Given the description of an element on the screen output the (x, y) to click on. 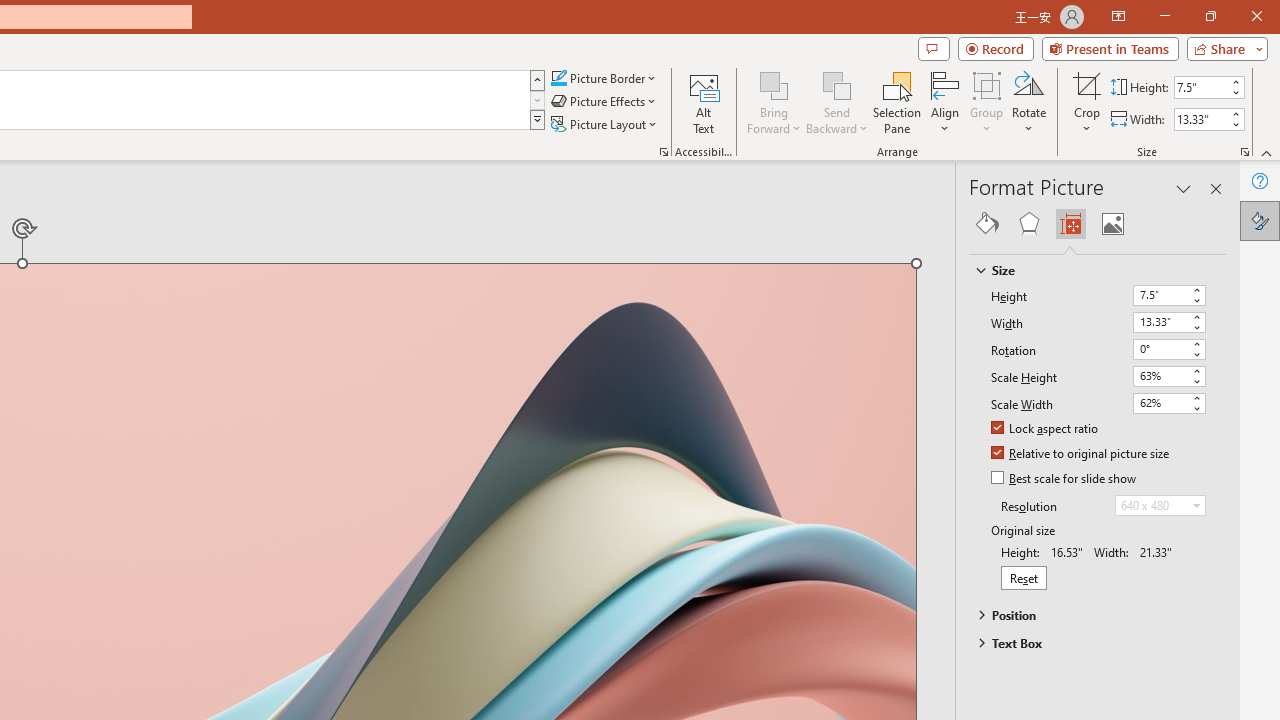
Picture Effects (605, 101)
Rotation (1168, 349)
Scale Width (1168, 403)
Scale Height (1160, 376)
Crop (1087, 102)
Size & Properties (1070, 223)
Size and Position... (1244, 151)
Picture Border (603, 78)
Effects (1028, 223)
Fill & Line (987, 223)
Picture... (663, 151)
